Given the description of an element on the screen output the (x, y) to click on. 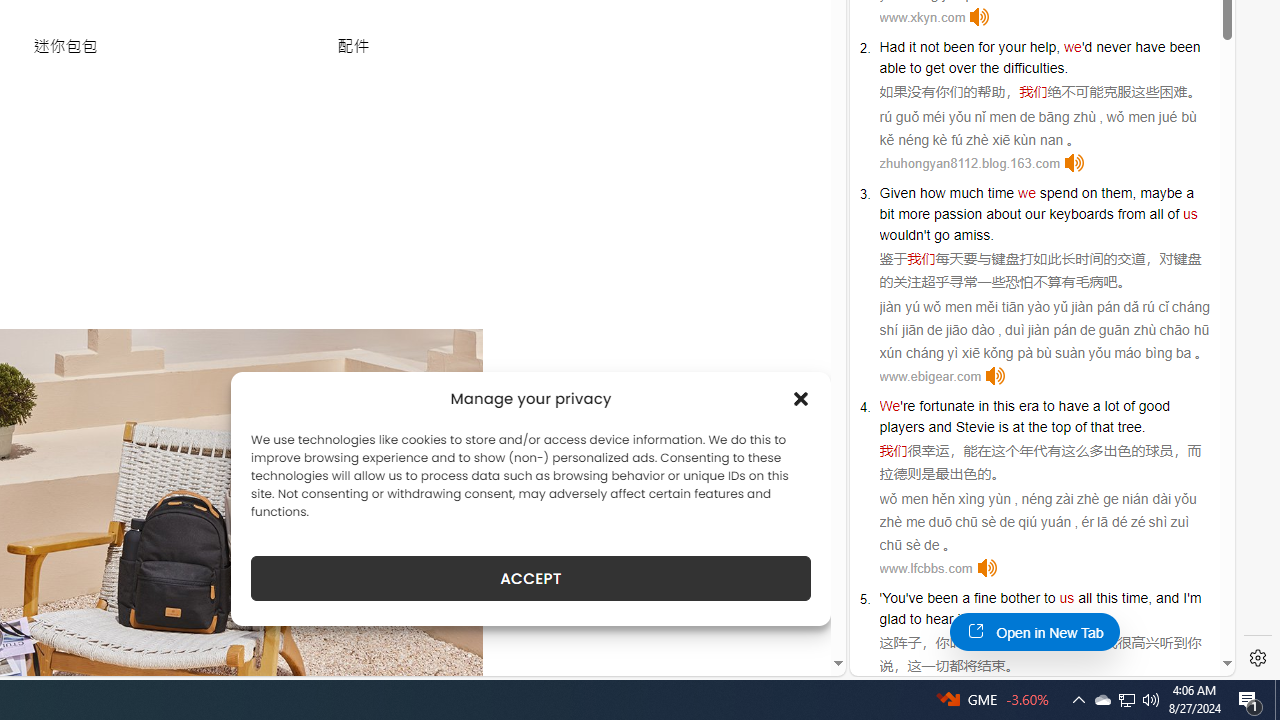
have (1073, 405)
and (940, 426)
keyboards (1081, 213)
good (1153, 405)
ACCEPT (530, 578)
bother (1019, 597)
